Given the description of an element on the screen output the (x, y) to click on. 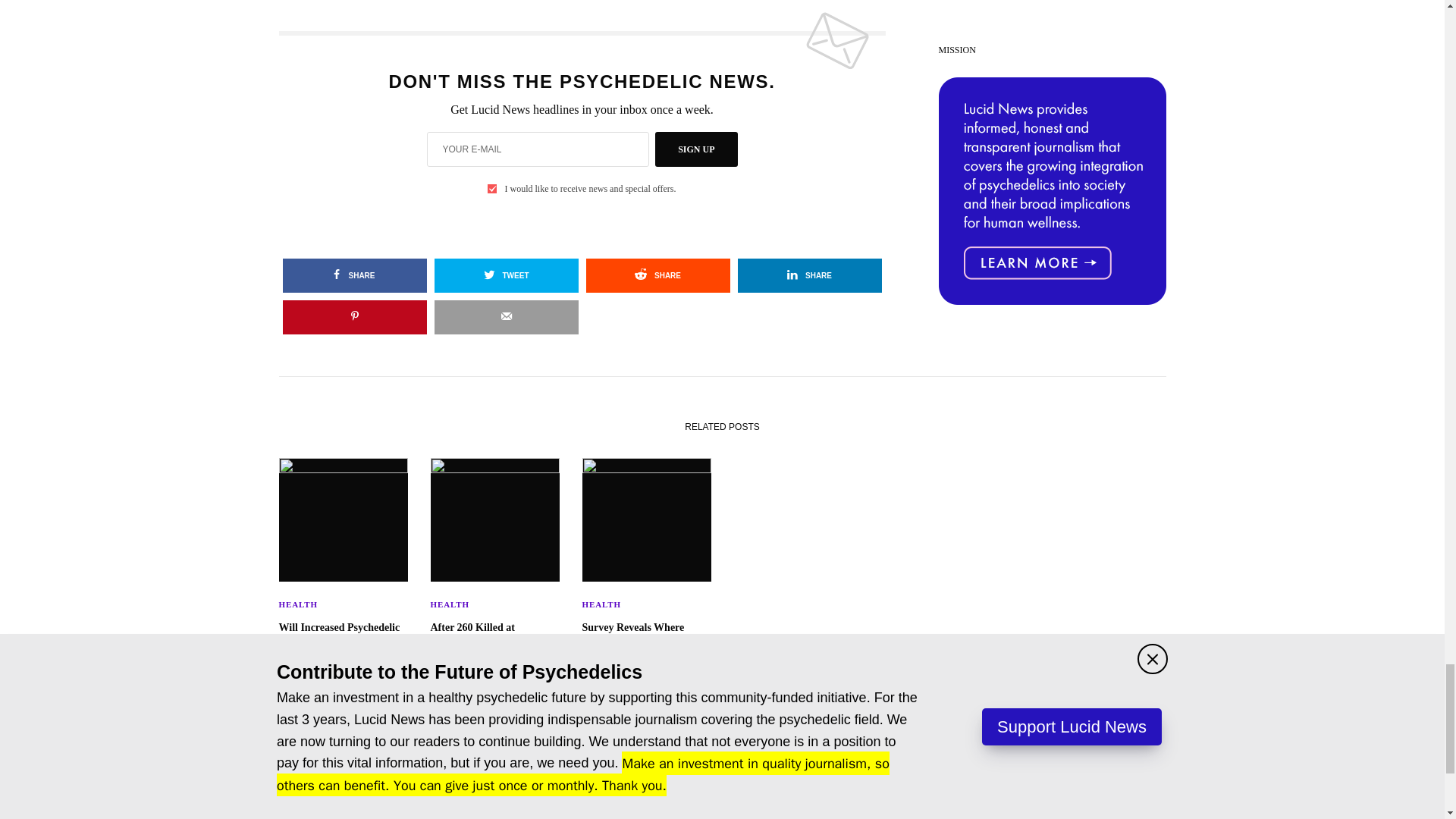
Survey Reveals Where Psychedelic Users Get Their Information (646, 642)
Lucid News (721, 802)
